Given the description of an element on the screen output the (x, y) to click on. 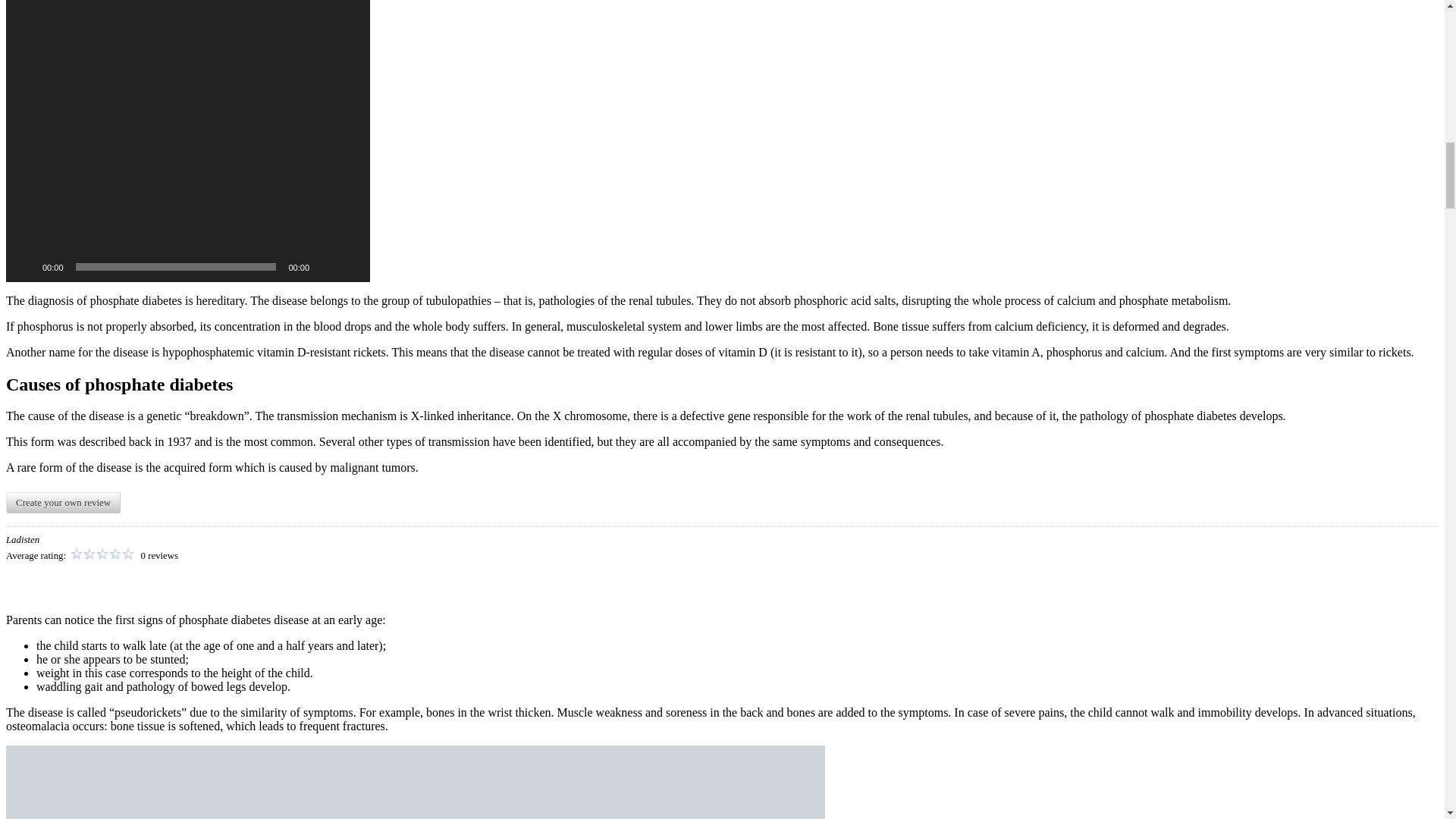
Fullscreen (350, 266)
Mute (325, 266)
Play (25, 266)
